Given the description of an element on the screen output the (x, y) to click on. 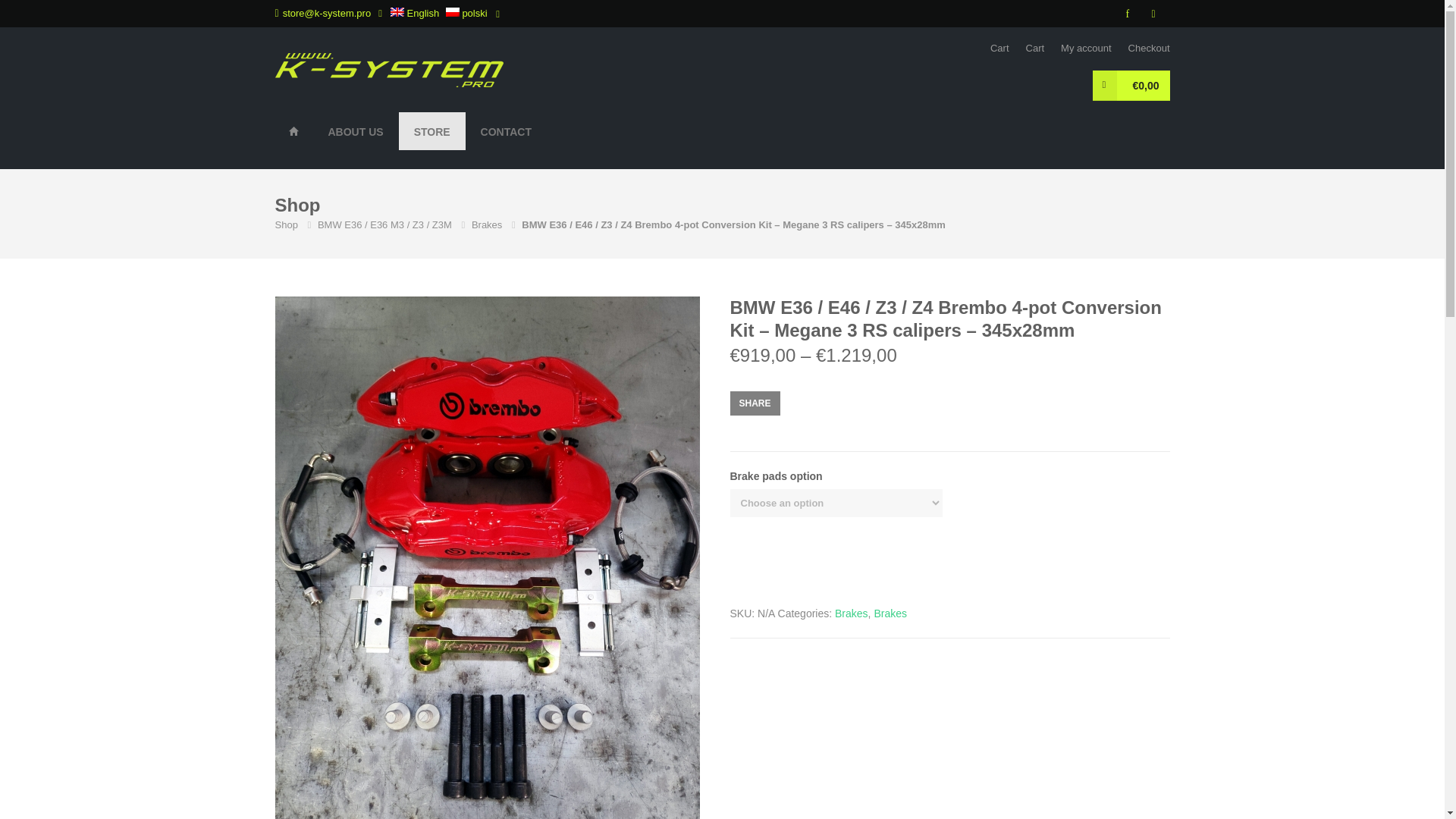
HOME (294, 130)
CONTACT (506, 130)
polski (466, 12)
Brakes (850, 613)
STORE (431, 130)
Instagram (1155, 13)
Brakes (890, 613)
My account (1085, 48)
Brakes (486, 224)
Checkout (1149, 48)
English (416, 12)
Facebook (1128, 13)
Cart (999, 48)
SHARE (753, 403)
Cart (1035, 48)
